Given the description of an element on the screen output the (x, y) to click on. 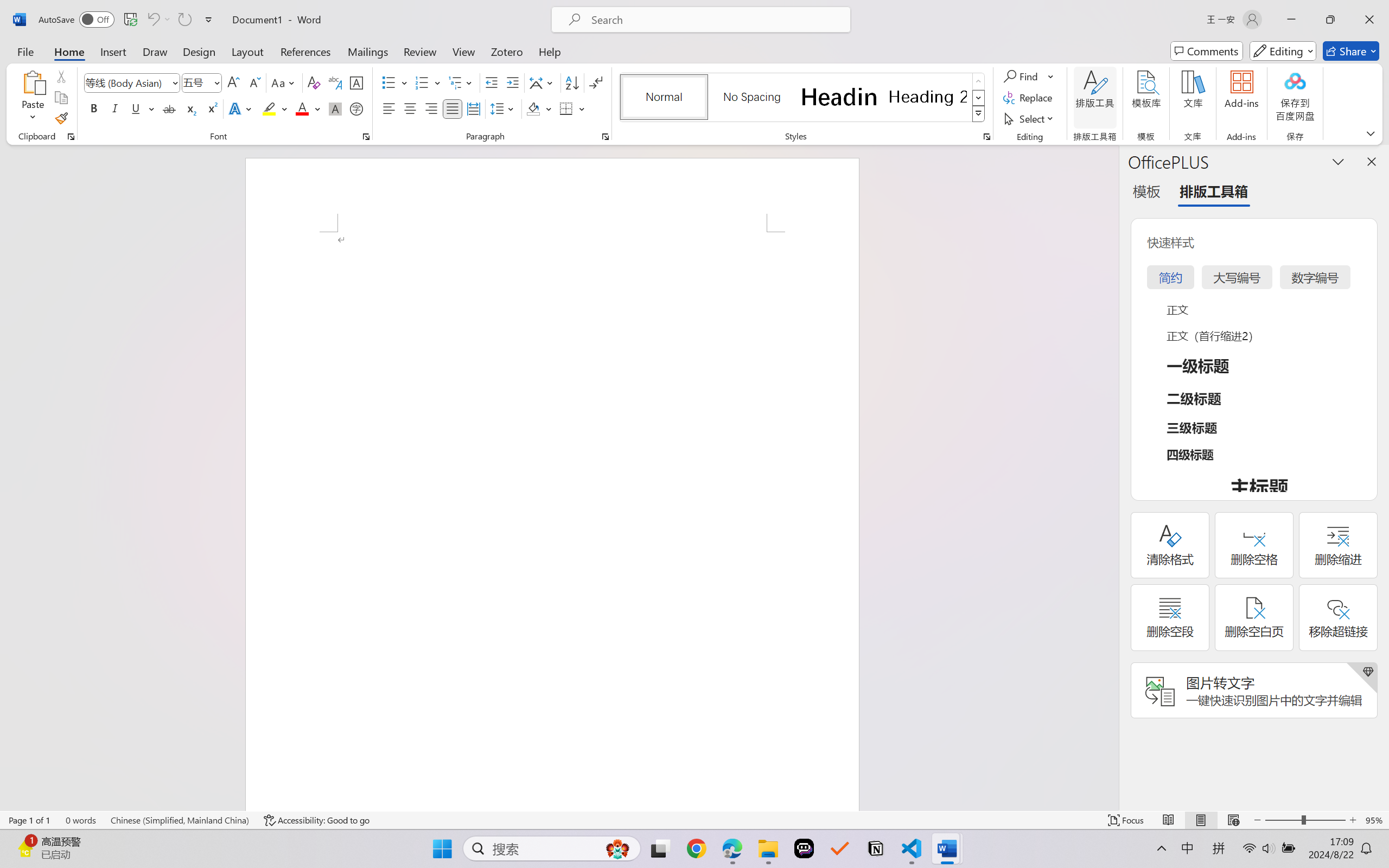
Can't Undo (152, 19)
Language Chinese (Simplified, Mainland China) (179, 819)
